Given the description of an element on the screen output the (x, y) to click on. 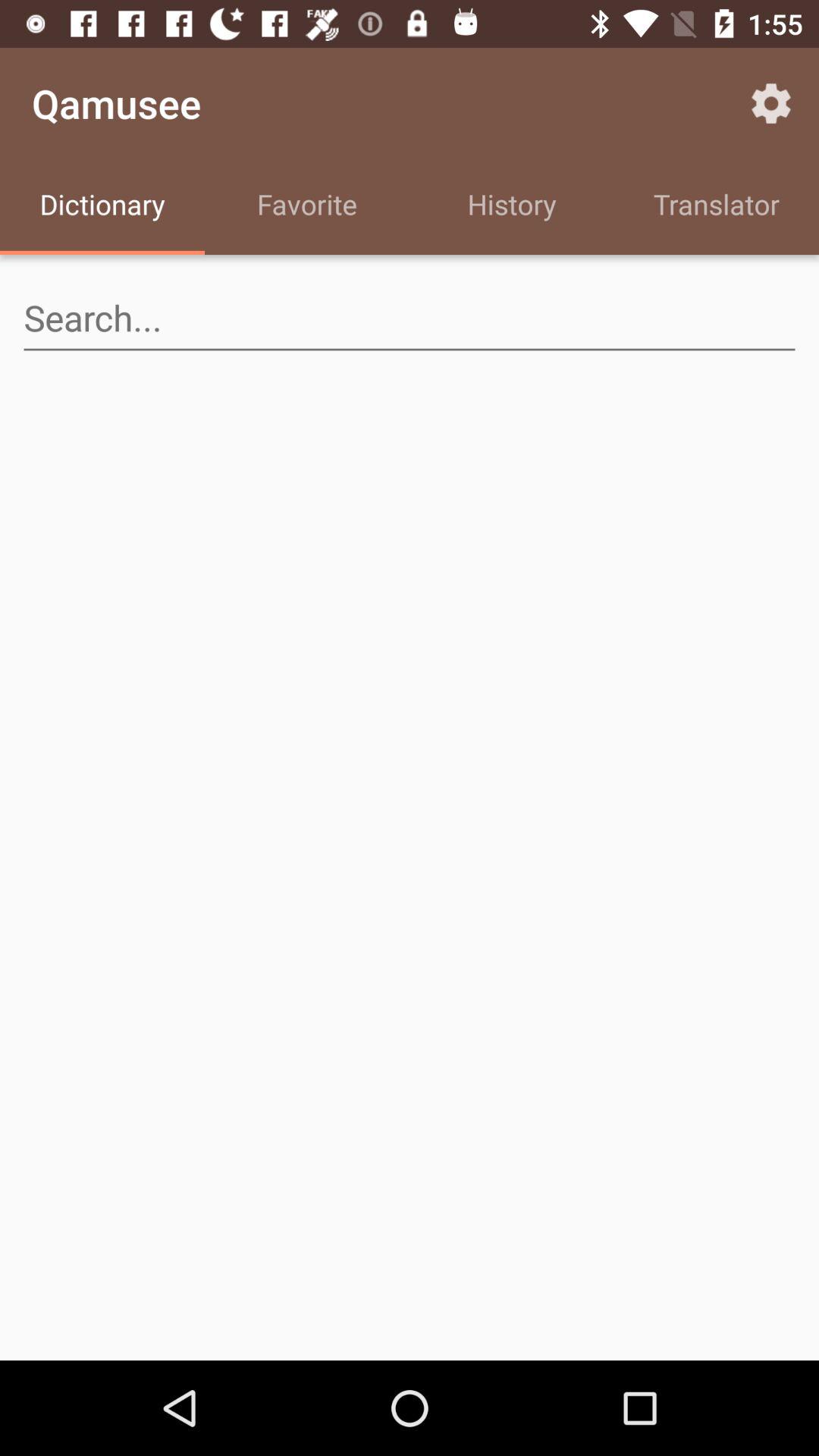
search bar (409, 318)
